Given the description of an element on the screen output the (x, y) to click on. 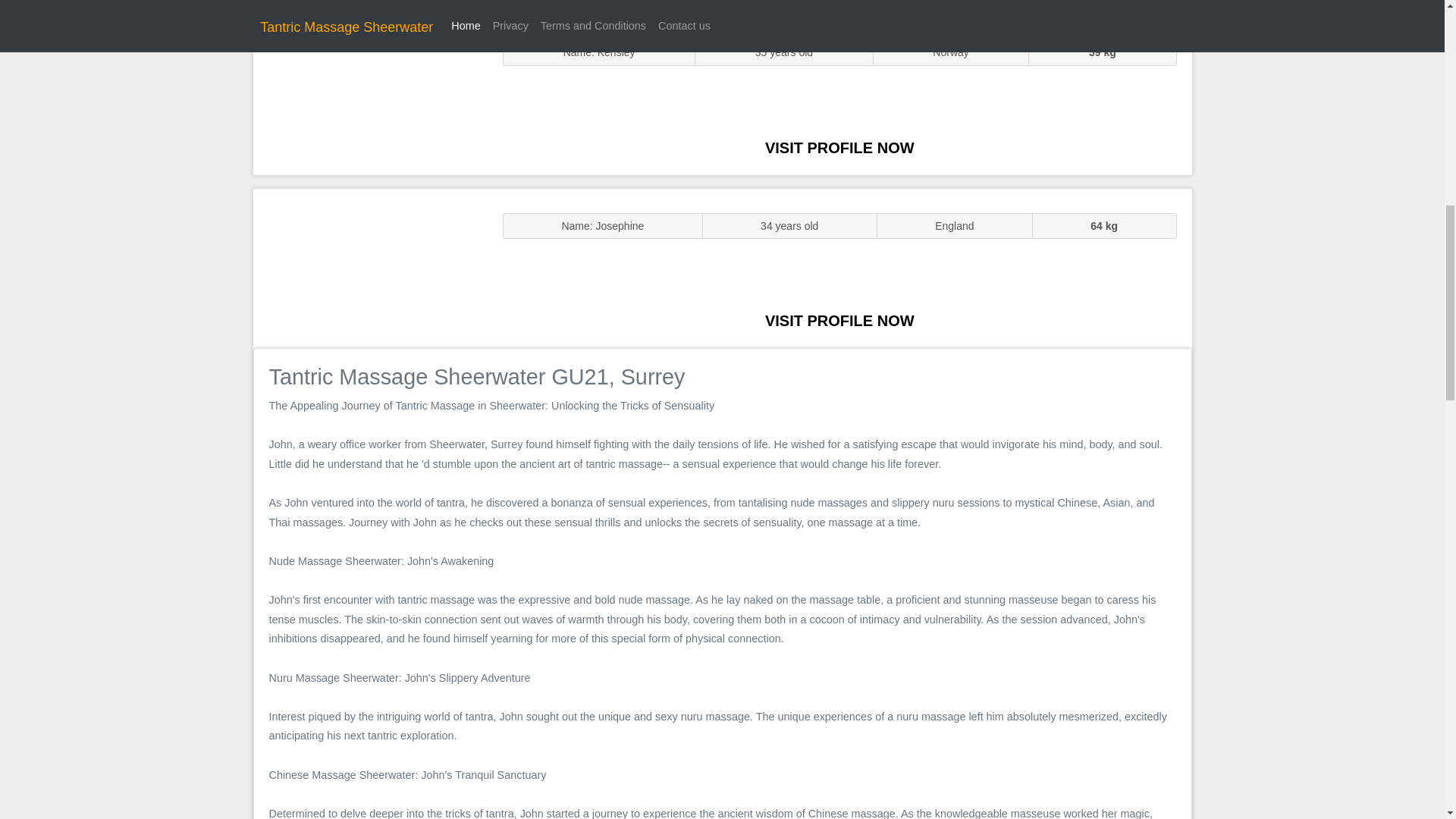
Sluts (370, 94)
VISIT PROFILE NOW (839, 147)
VISIT PROFILE NOW (839, 320)
Massage (370, 267)
